Given the description of an element on the screen output the (x, y) to click on. 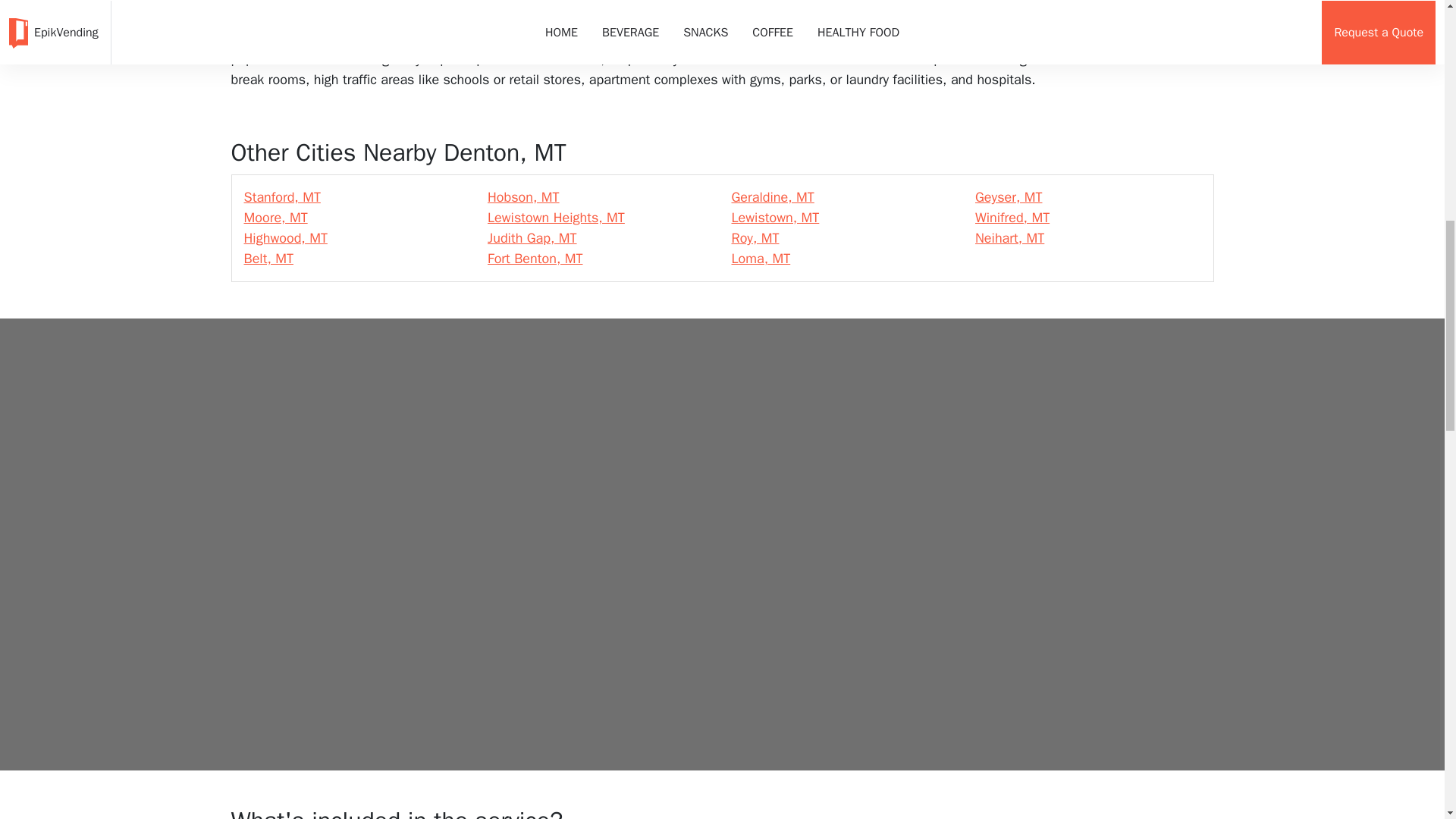
Belt, MT (269, 258)
Geraldine, MT (771, 197)
Lewistown, MT (774, 217)
Neihart, MT (1009, 238)
Fort Benton, MT (534, 258)
Quote Form (721, 411)
Highwood, MT (285, 238)
Moore, MT (275, 217)
Stanford, MT (282, 197)
Roy, MT (754, 238)
Loma, MT (760, 258)
Lewistown Heights, MT (555, 217)
Winifred, MT (1012, 217)
Geyser, MT (1008, 197)
Judith Gap, MT (531, 238)
